Given the description of an element on the screen output the (x, y) to click on. 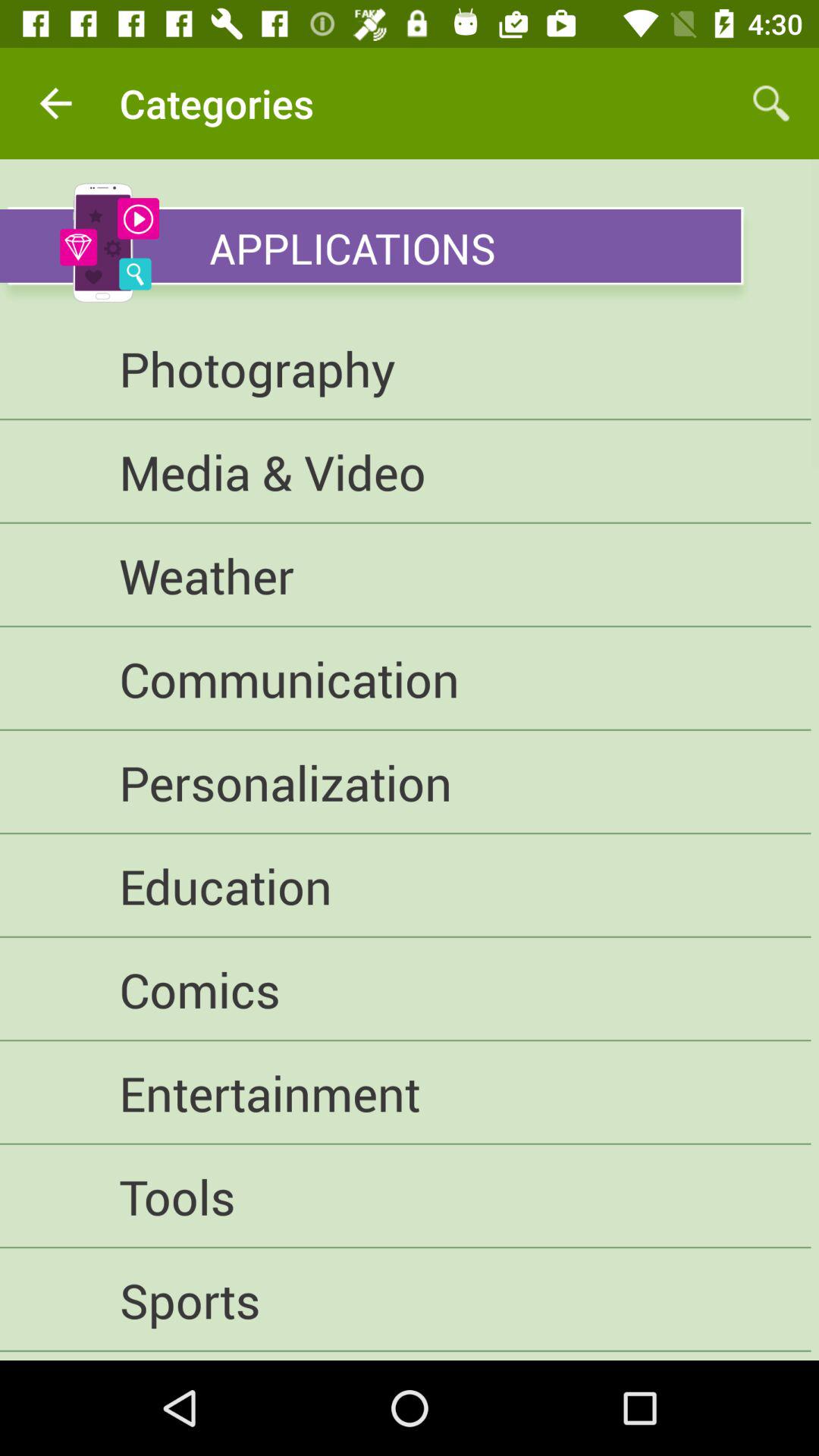
scroll to the weather item (405, 575)
